Given the description of an element on the screen output the (x, y) to click on. 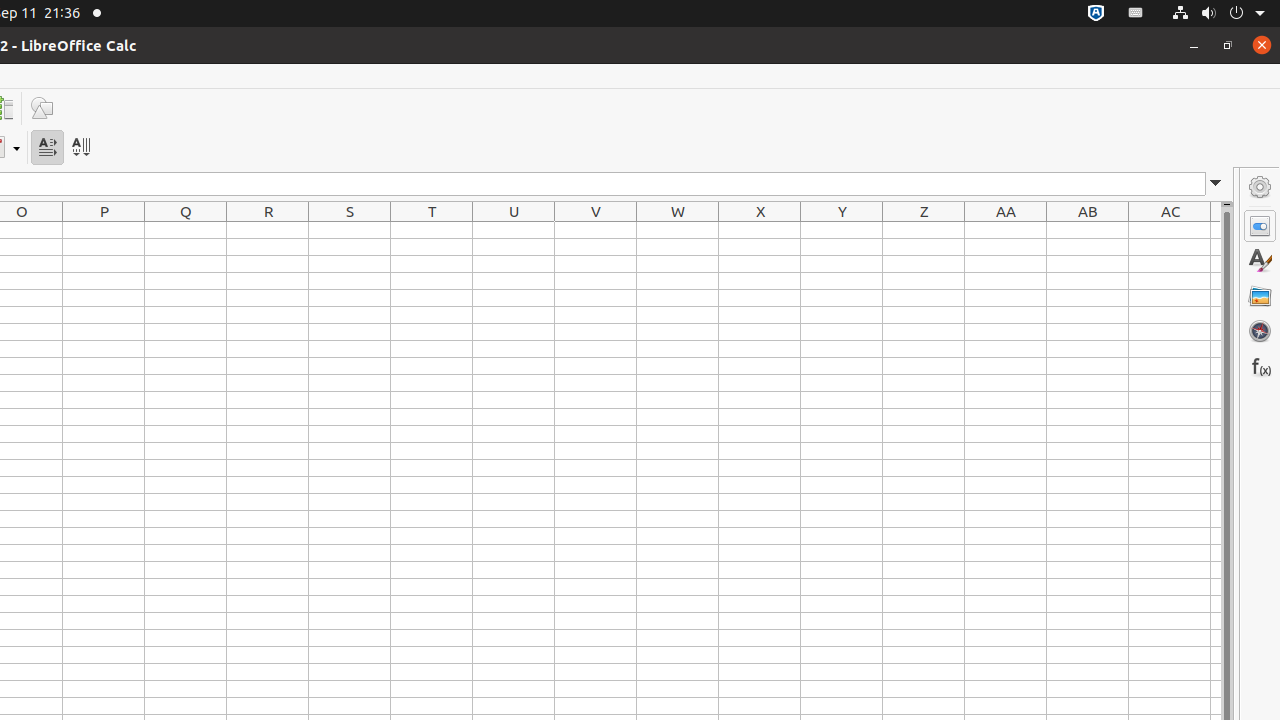
AA1 Element type: table-cell (1006, 230)
X1 Element type: table-cell (760, 230)
T1 Element type: table-cell (432, 230)
S1 Element type: table-cell (350, 230)
